Given the description of an element on the screen output the (x, y) to click on. 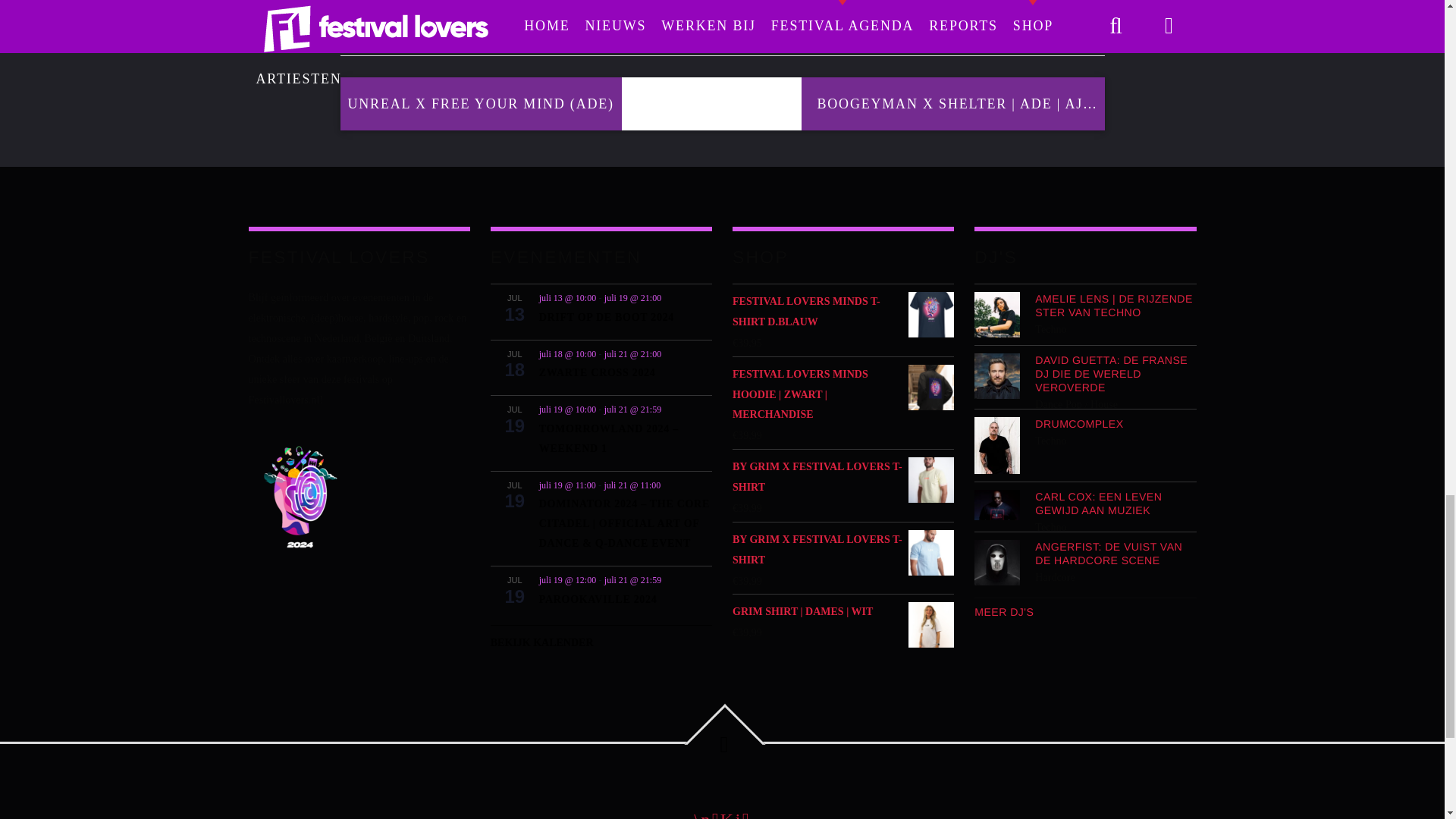
Zwarte Cross 2024 (597, 372)
PAROOKAVILLE 2024 (598, 599)
Bekijk meer evenementen. (600, 638)
Drift op de Boot 2024 (606, 317)
